Given the description of an element on the screen output the (x, y) to click on. 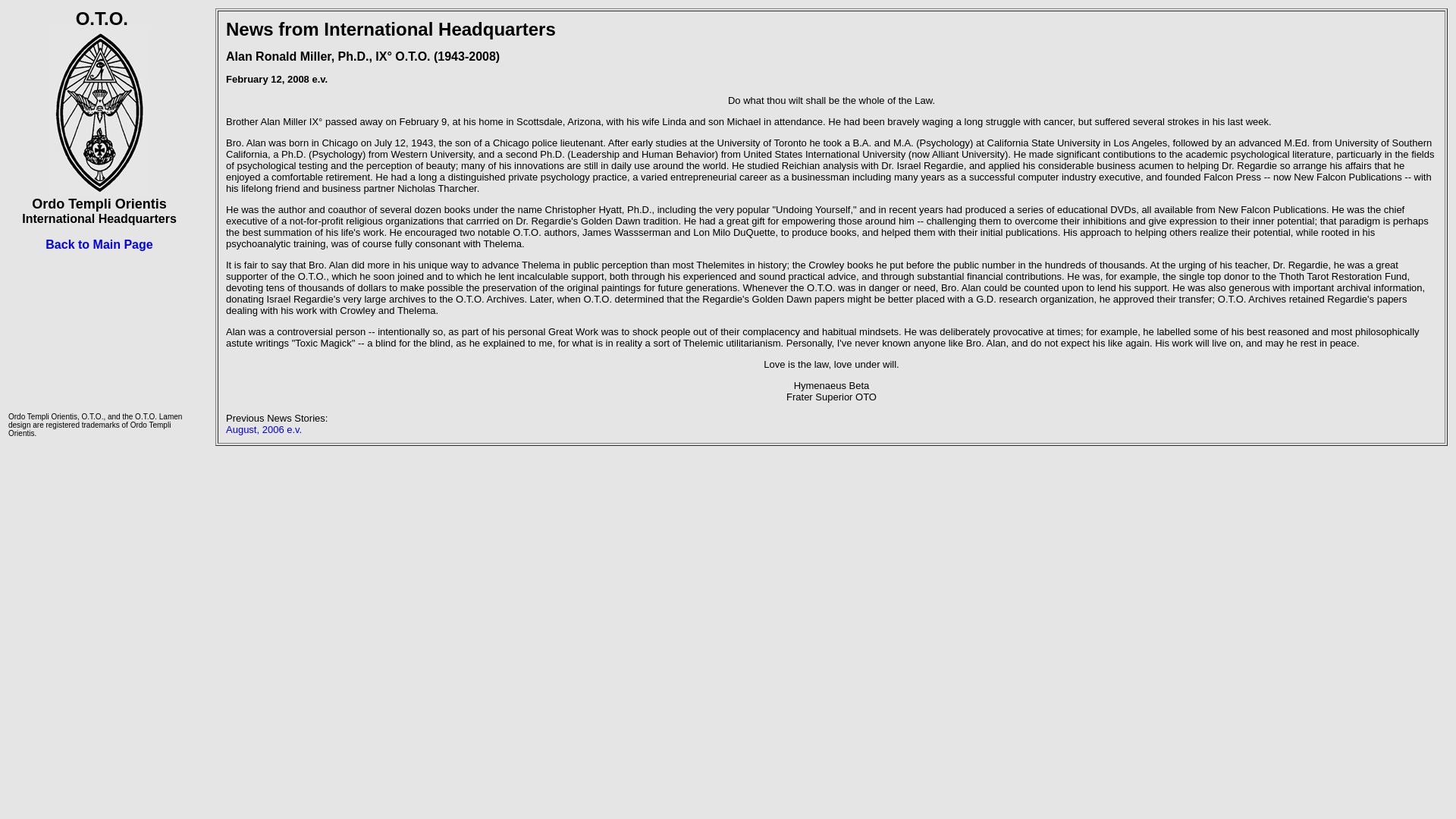
August, 2006 e.v. (263, 429)
Back to Main Page (98, 244)
